Given the description of an element on the screen output the (x, y) to click on. 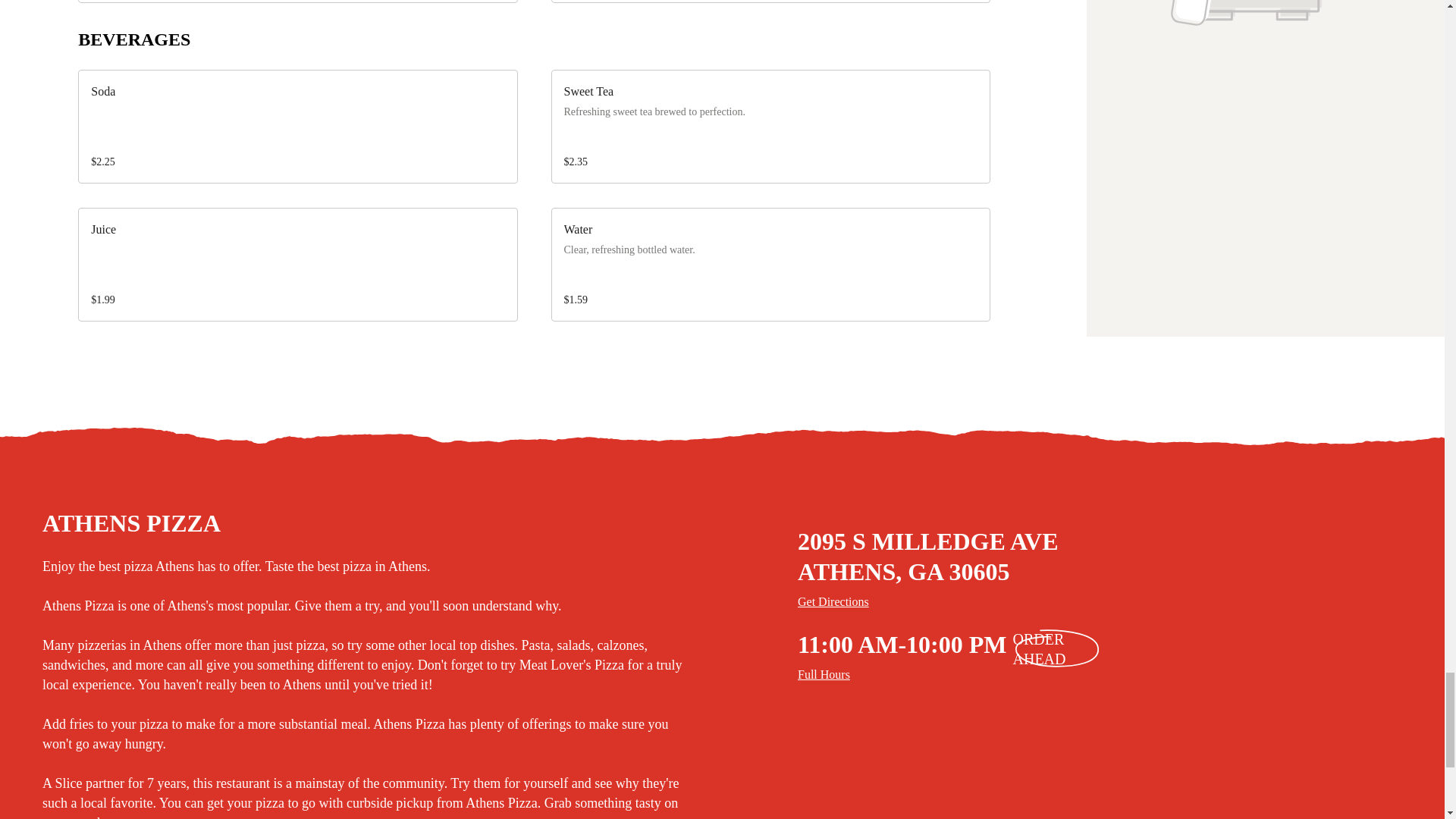
Get Directions (1119, 601)
